Given the description of an element on the screen output the (x, y) to click on. 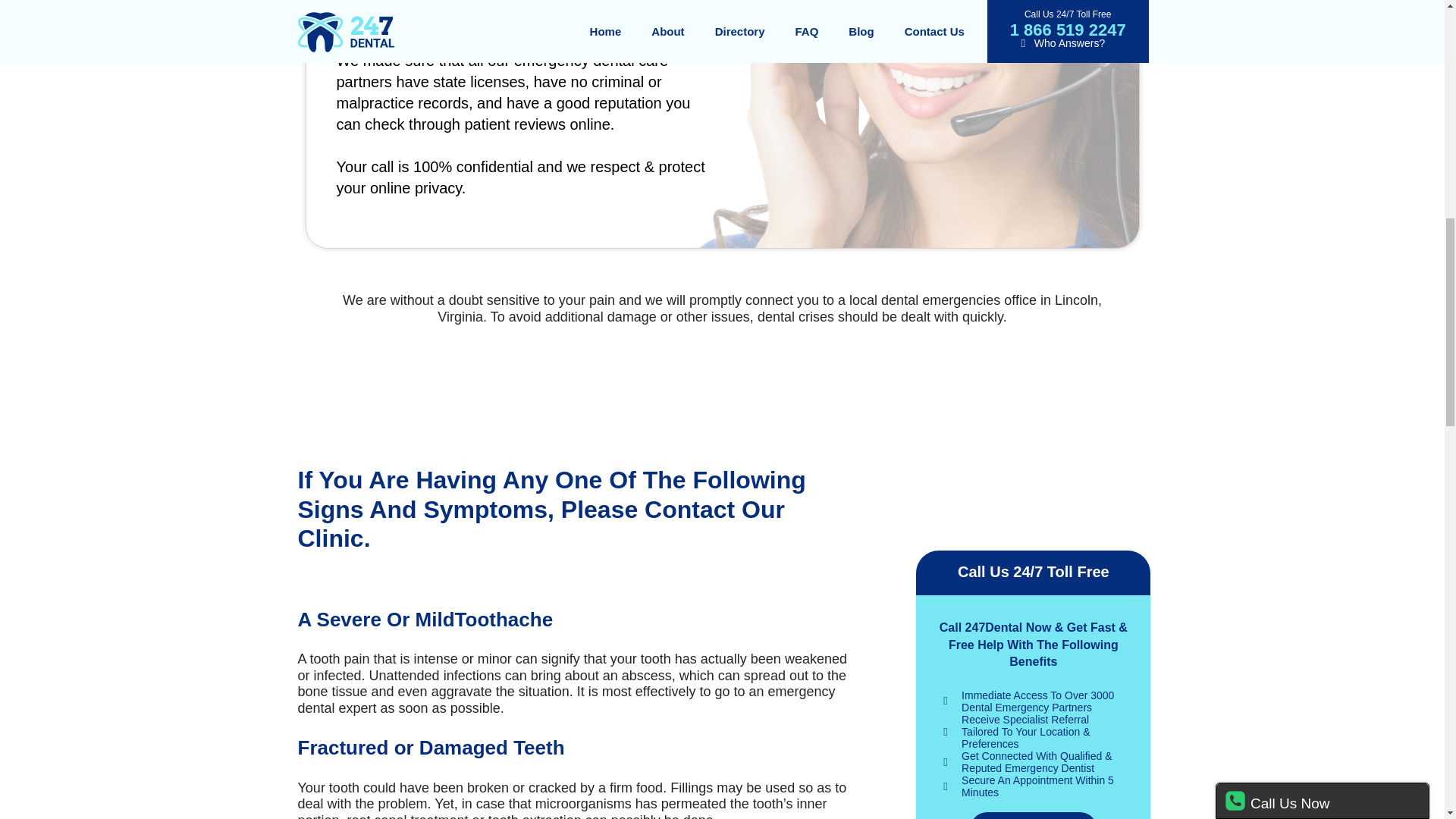
1 866 519 2247 (1033, 815)
